Given the description of an element on the screen output the (x, y) to click on. 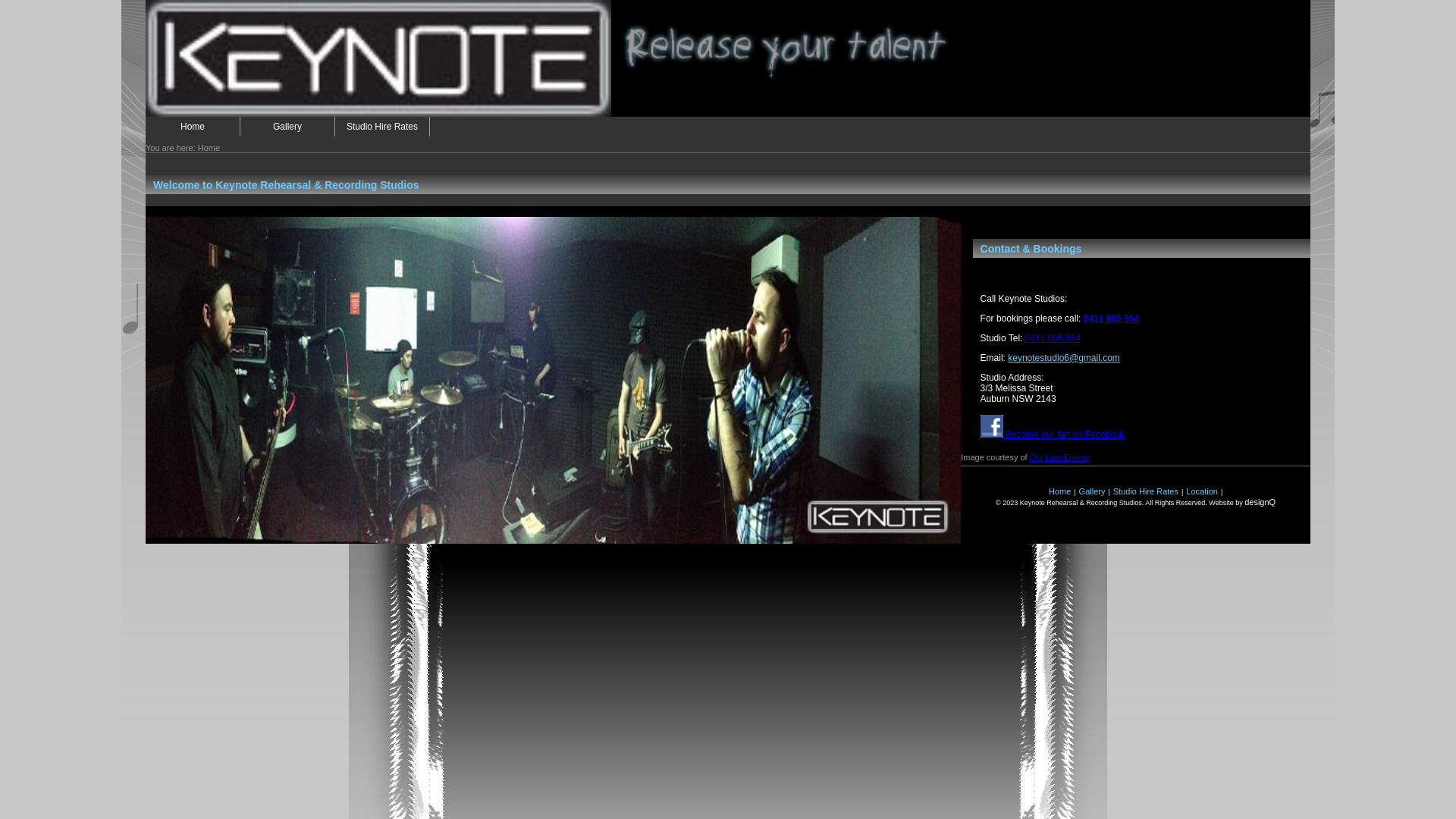
designQ Element type: text (1259, 501)
Studio Hire Rates Element type: text (1145, 490)
Home Element type: text (1059, 490)
Gallery Element type: text (287, 126)
0411 605 554 Element type: text (1052, 337)
Gallery Element type: text (1092, 490)
0411 605 554 Element type: text (1111, 318)
Home Element type: text (192, 126)
Our Last Enemy Element type: text (1059, 456)
Studio Hire Rates Element type: text (382, 126)
keynotestudio6@gmail.com Element type: text (1063, 357)
Become our fan on Facebook Element type: text (1052, 434)
Location Element type: text (1201, 490)
